Given the description of an element on the screen output the (x, y) to click on. 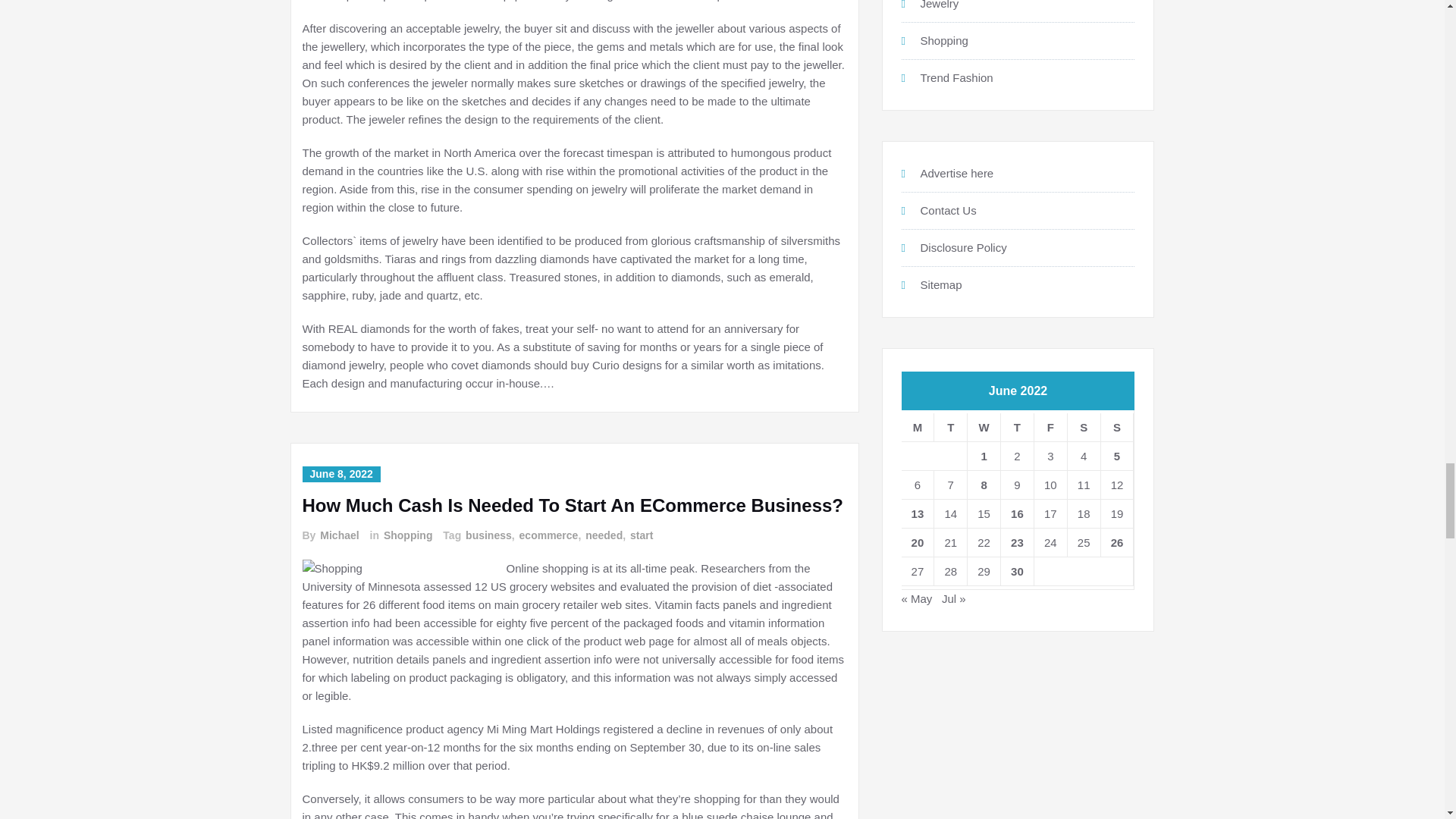
Sunday (1117, 427)
Friday (1050, 427)
Monday (917, 427)
Thursday (1017, 427)
Saturday (1083, 427)
Tuesday (951, 427)
Wednesday (984, 427)
